Given the description of an element on the screen output the (x, y) to click on. 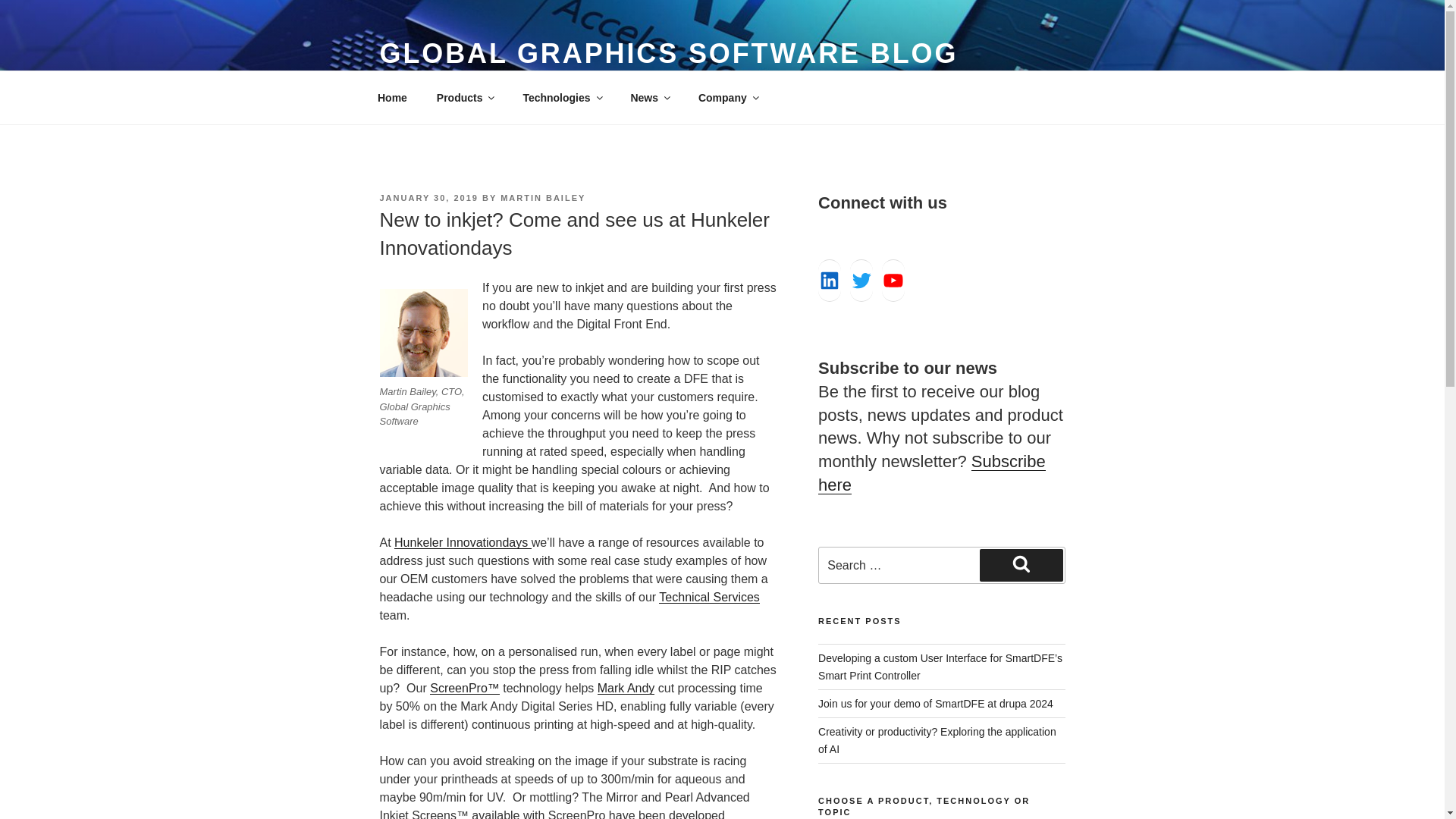
Company (727, 97)
Technologies (561, 97)
News (649, 97)
GLOBAL GRAPHICS SOFTWARE BLOG (668, 52)
Home (392, 97)
Products (464, 97)
